Given the description of an element on the screen output the (x, y) to click on. 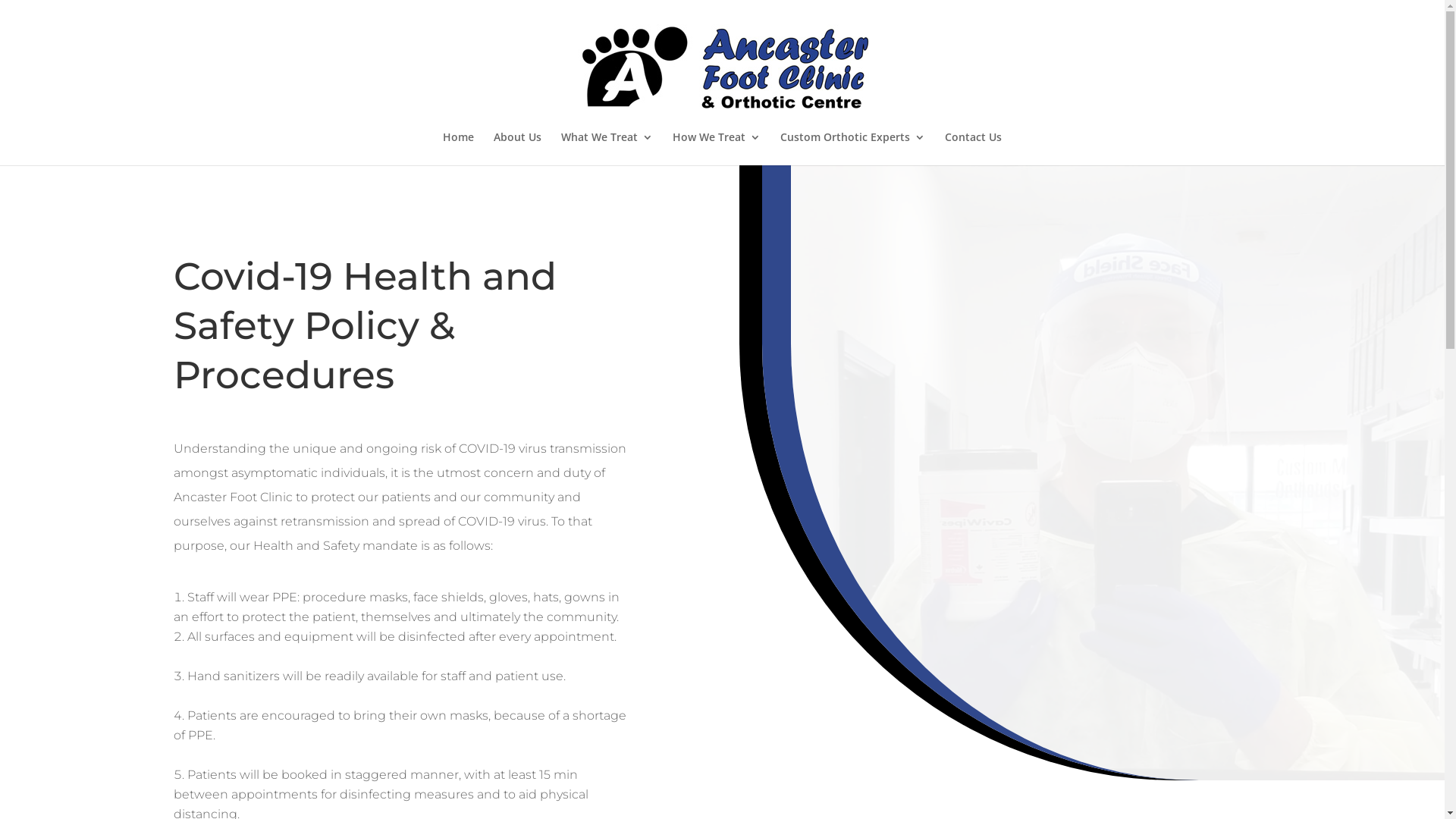
What We Treat Element type: text (606, 148)
Home Element type: text (457, 148)
How We Treat Element type: text (716, 148)
About Us Element type: text (517, 148)
Contact Us Element type: text (972, 148)
Custom Orthotic Experts Element type: text (852, 148)
